Given the description of an element on the screen output the (x, y) to click on. 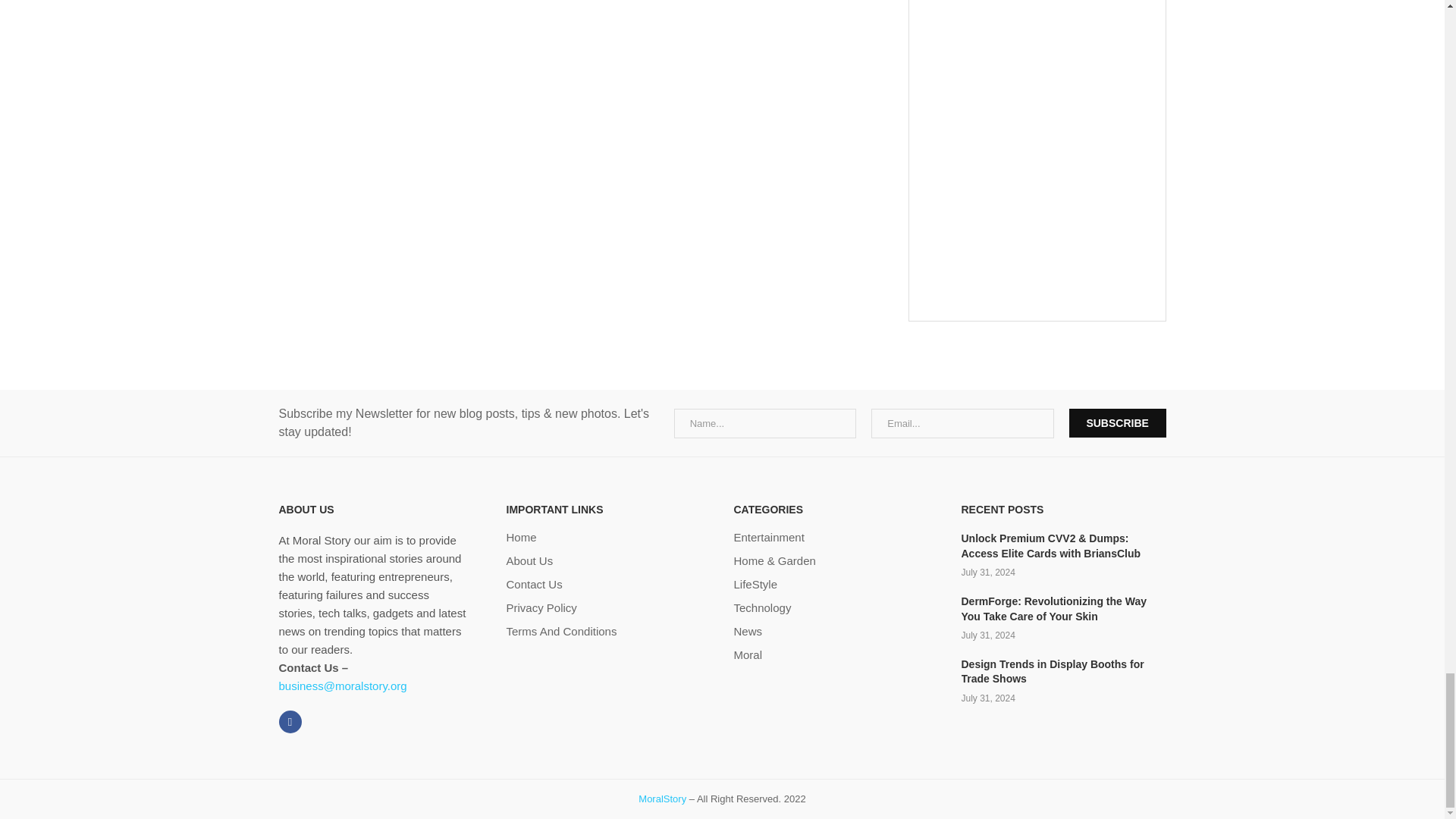
Subscribe (1117, 422)
